Given the description of an element on the screen output the (x, y) to click on. 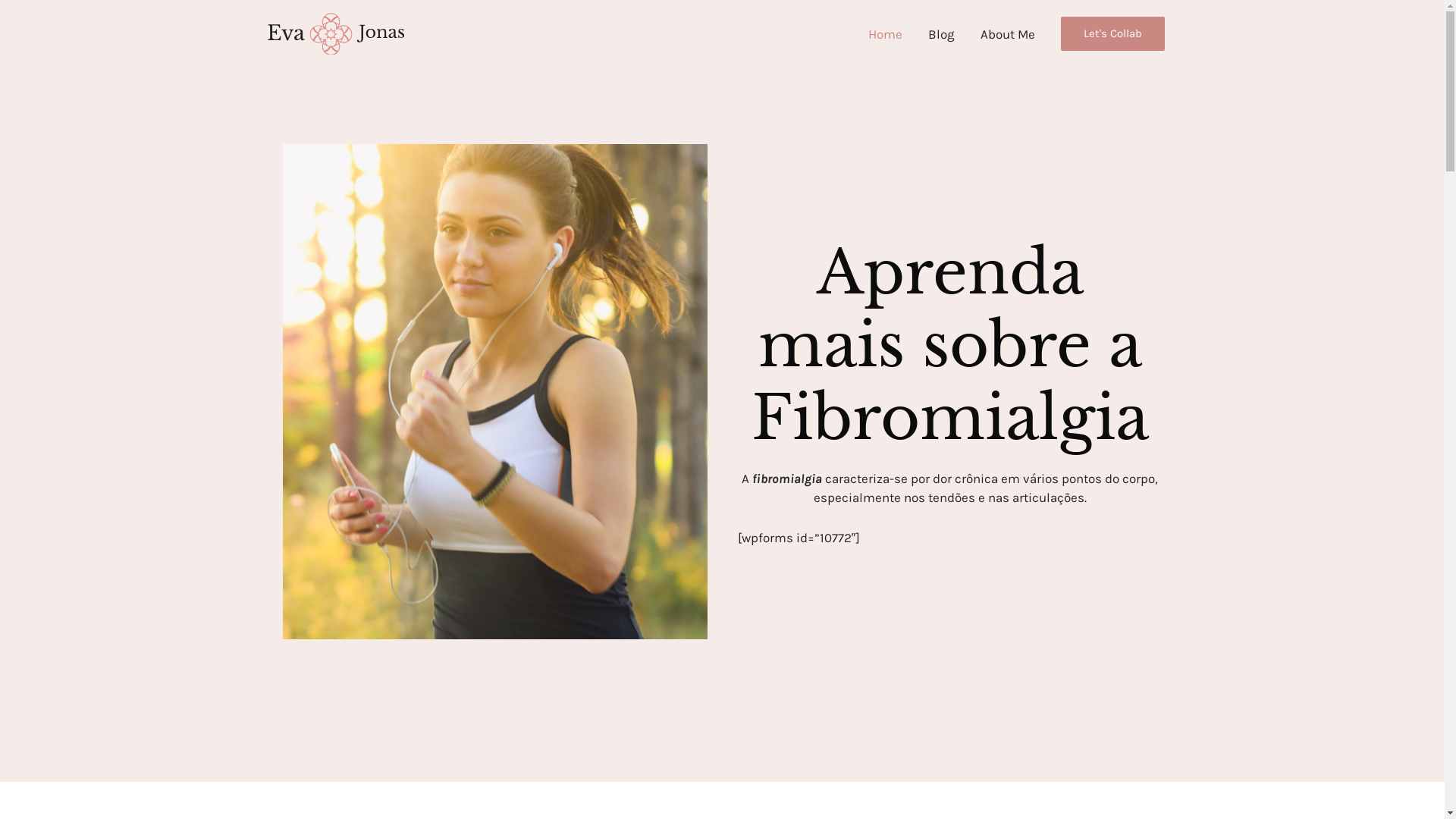
About Me Element type: text (1007, 33)
Let's Collab Element type: text (1112, 33)
Home Element type: text (885, 33)
Blog Element type: text (940, 33)
